Given the description of an element on the screen output the (x, y) to click on. 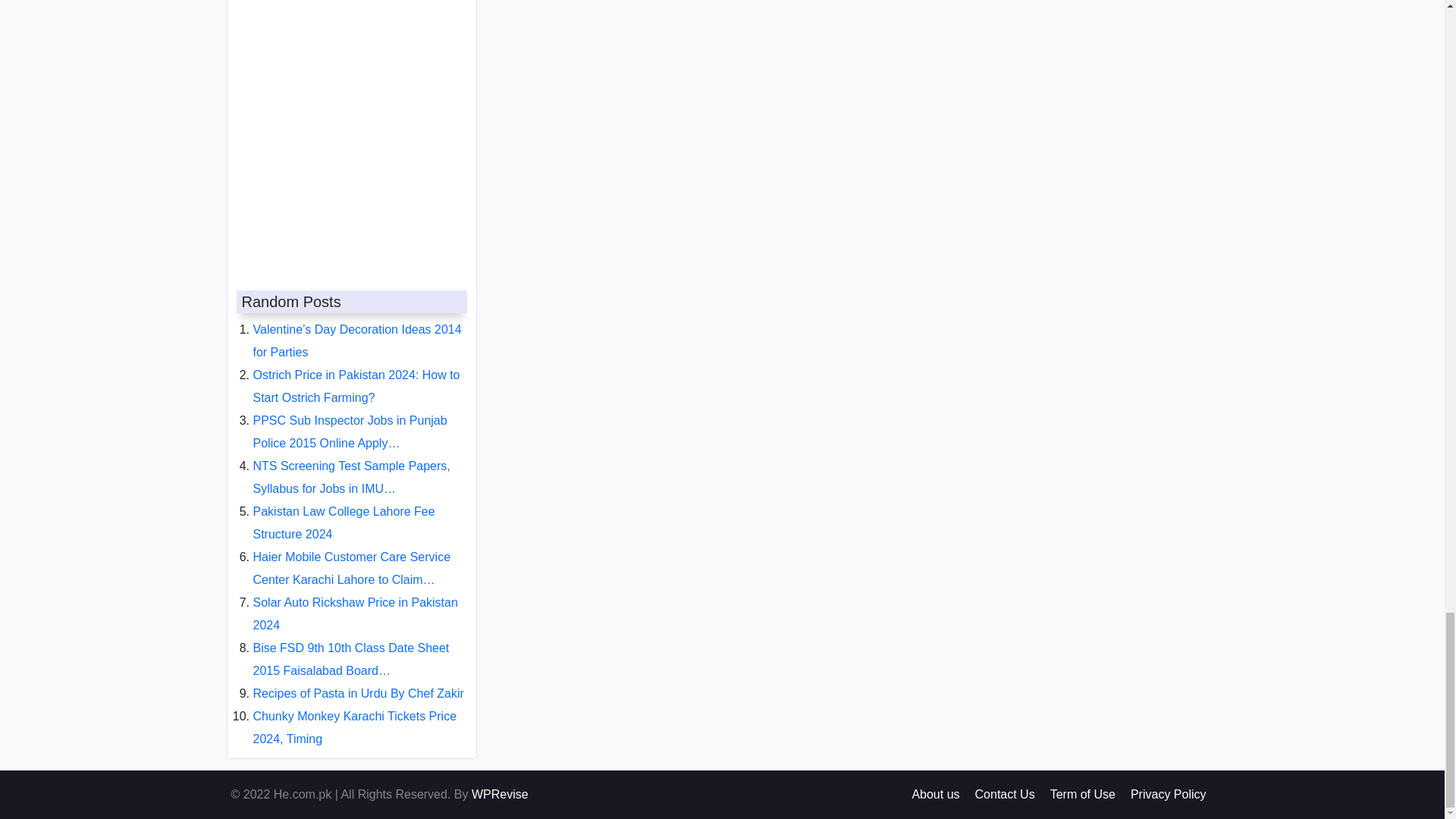
WPRevise (499, 793)
Pakistan Law College Lahore Fee Structure 2024 (344, 510)
Solar Auto Rickshaw Price in Pakistan 2024 (355, 601)
Recipes of Pasta in Urdu By Chef Zakir (358, 680)
Chunky Monkey Karachi Tickets Price 2024, Timing (355, 715)
